Given the description of an element on the screen output the (x, y) to click on. 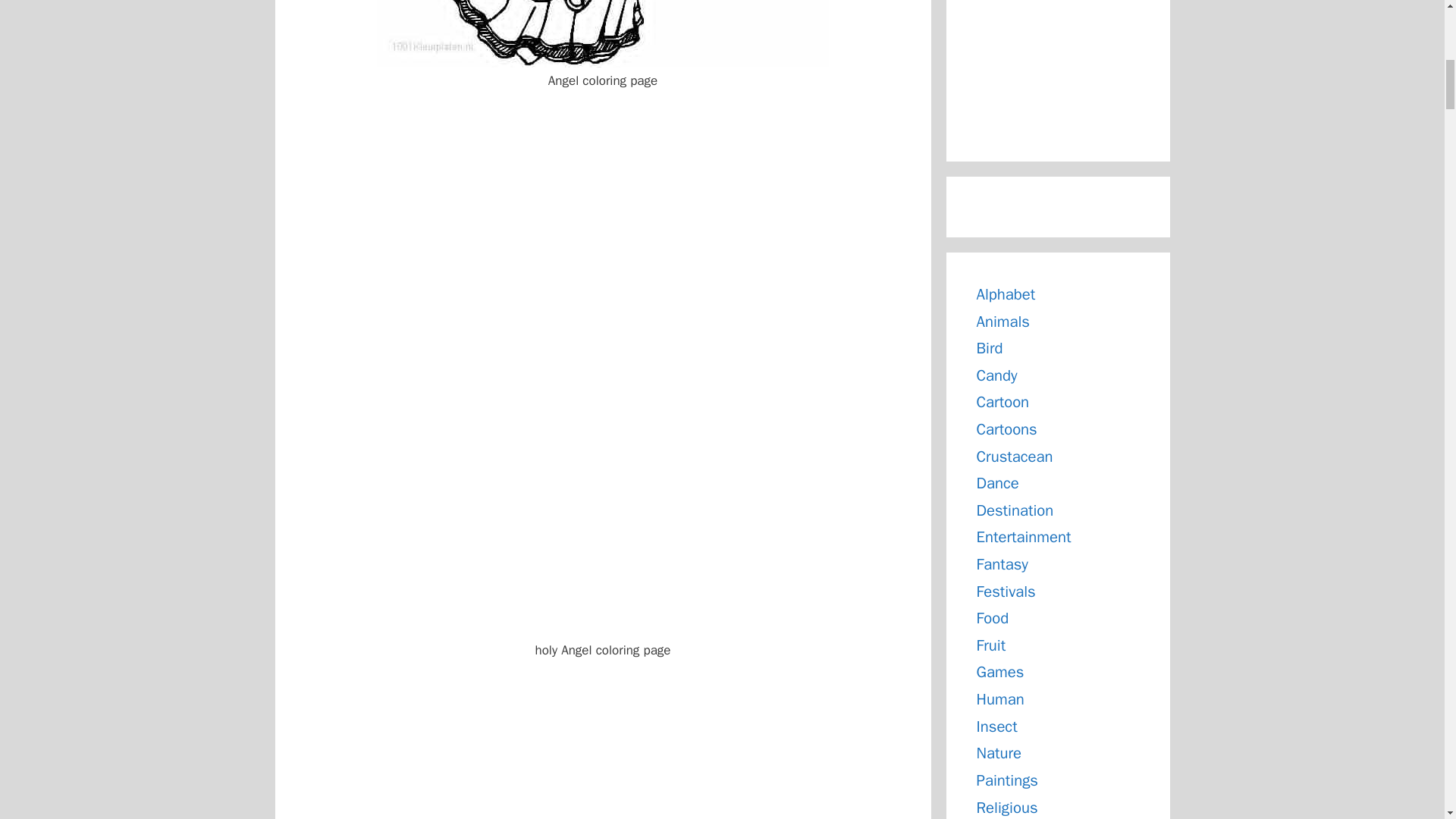
Advertisement (1058, 65)
Scroll back to top (1406, 720)
Alphabet (1005, 293)
